Given the description of an element on the screen output the (x, y) to click on. 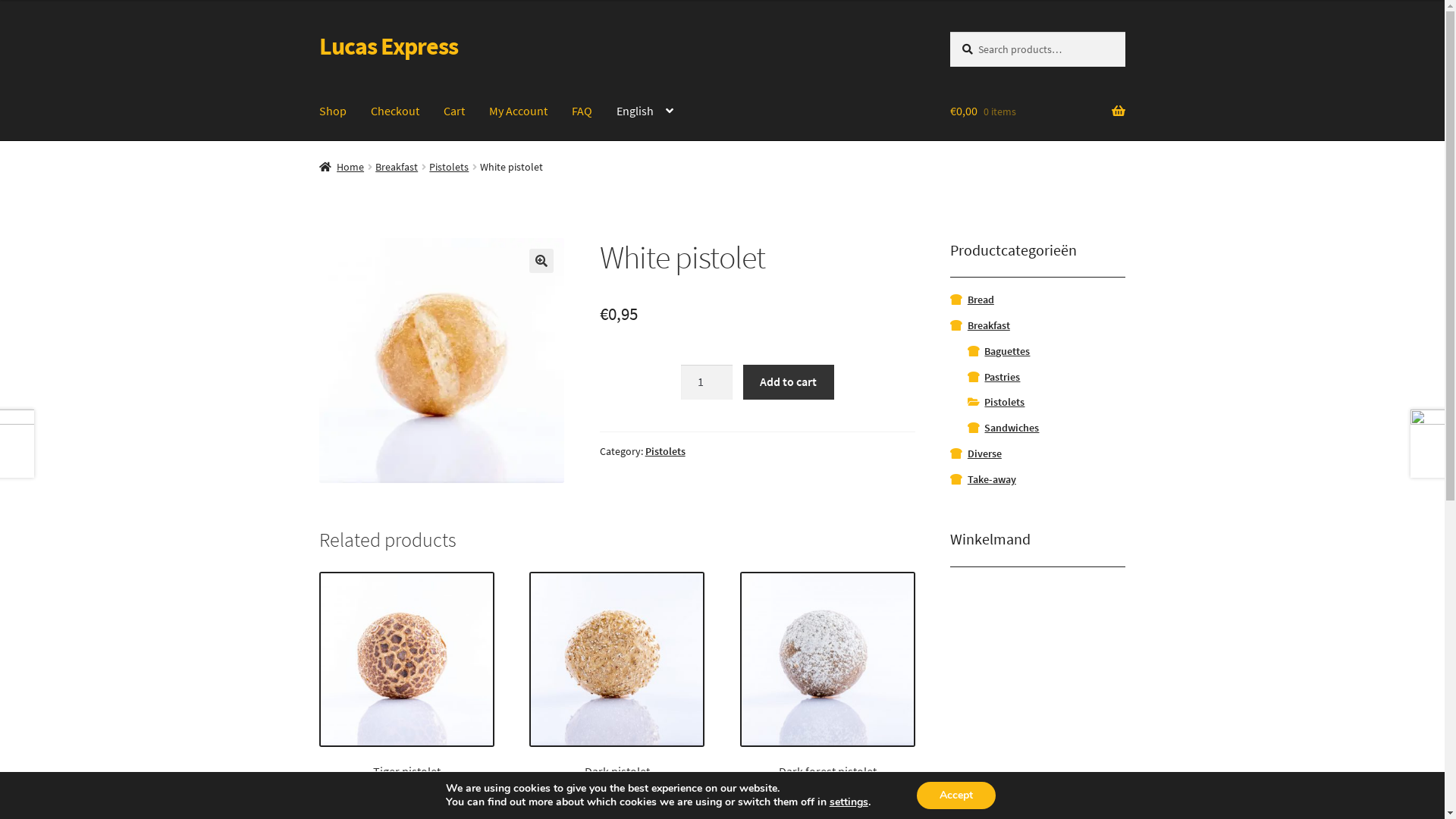
Pistolets Element type: text (448, 166)
Breakfast Element type: text (396, 166)
Skip to navigation Element type: text (318, 31)
Pistolets Element type: text (1004, 401)
FAQ Element type: text (581, 111)
Search Element type: text (949, 31)
Diverse Element type: text (984, 453)
Checkout Element type: text (394, 111)
Shop Element type: text (332, 111)
English Element type: text (644, 111)
Cart Element type: text (453, 111)
Home Element type: text (341, 166)
Pistolets Element type: text (665, 451)
Add to cart Element type: text (788, 381)
Lucas Express Element type: text (388, 46)
Breakfast Element type: text (988, 325)
Take-away Element type: text (991, 479)
Sandwiches Element type: text (1011, 427)
Baguettes Element type: text (1006, 350)
My Account Element type: text (517, 111)
settings Element type: text (848, 802)
AtelierLucas-by-AS-Deldycke-24 Element type: hover (441, 360)
Accept Element type: text (955, 795)
Pastries Element type: text (1001, 376)
Bread Element type: text (980, 299)
